Given the description of an element on the screen output the (x, y) to click on. 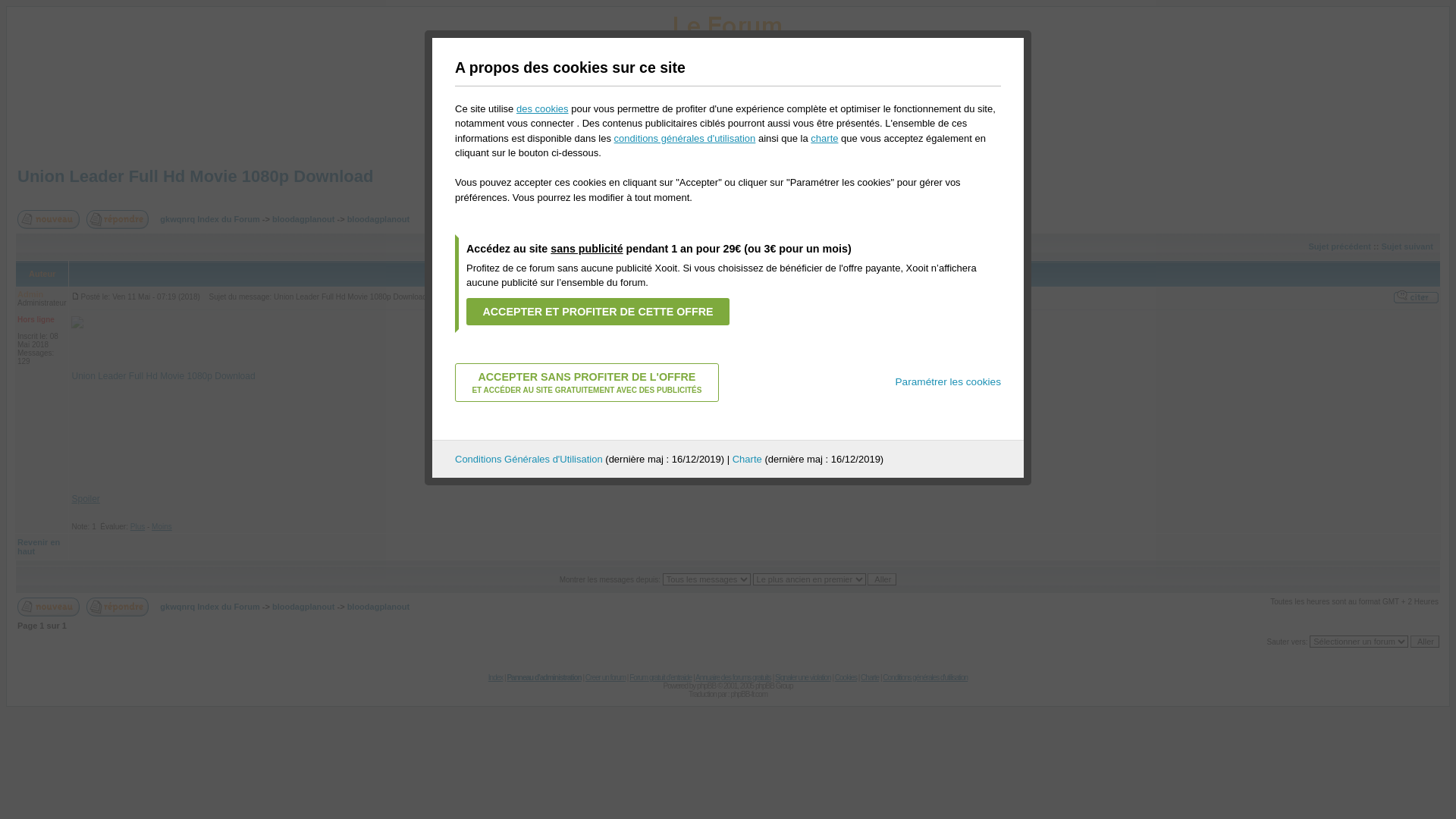
bloodagplanout Element type: text (303, 606)
bloodagplanout Element type: text (378, 606)
Rechercher Element type: text (657, 120)
Annuaire des forums gratuits Element type: text (733, 677)
Moins Element type: text (161, 526)
Spoiler Element type: text (85, 498)
Groupes Element type: text (771, 120)
Cookies Element type: text (845, 677)
Message Element type: hover (75, 295)
Membres Element type: text (717, 120)
Revenir en haut Element type: text (38, 546)
Sujet suivant Element type: text (1406, 246)
bloodagplanout Element type: text (378, 218)
Creer un forum Element type: text (605, 677)
bloodagplanout Element type: text (303, 218)
Connexion Element type: text (845, 136)
Aller Element type: text (881, 579)
Union Leader Full Hd Movie 1080p Download Element type: text (162, 375)
Union Leader Full Hd Movie 1080p Download Element type: text (195, 175)
FAQ Element type: text (607, 120)
Signaler une violation Element type: text (803, 677)
Profil Element type: text (599, 136)
Plus Element type: text (137, 526)
gkwqnrq Index du Forum Element type: text (209, 218)
Index Element type: text (495, 677)
phpBB-fr.com Element type: text (748, 694)
Charte Element type: text (869, 677)
gkwqnrq Index du Forum Element type: text (209, 606)
Aller Element type: text (1424, 641)
phpBB Element type: text (705, 685)
